Given the description of an element on the screen output the (x, y) to click on. 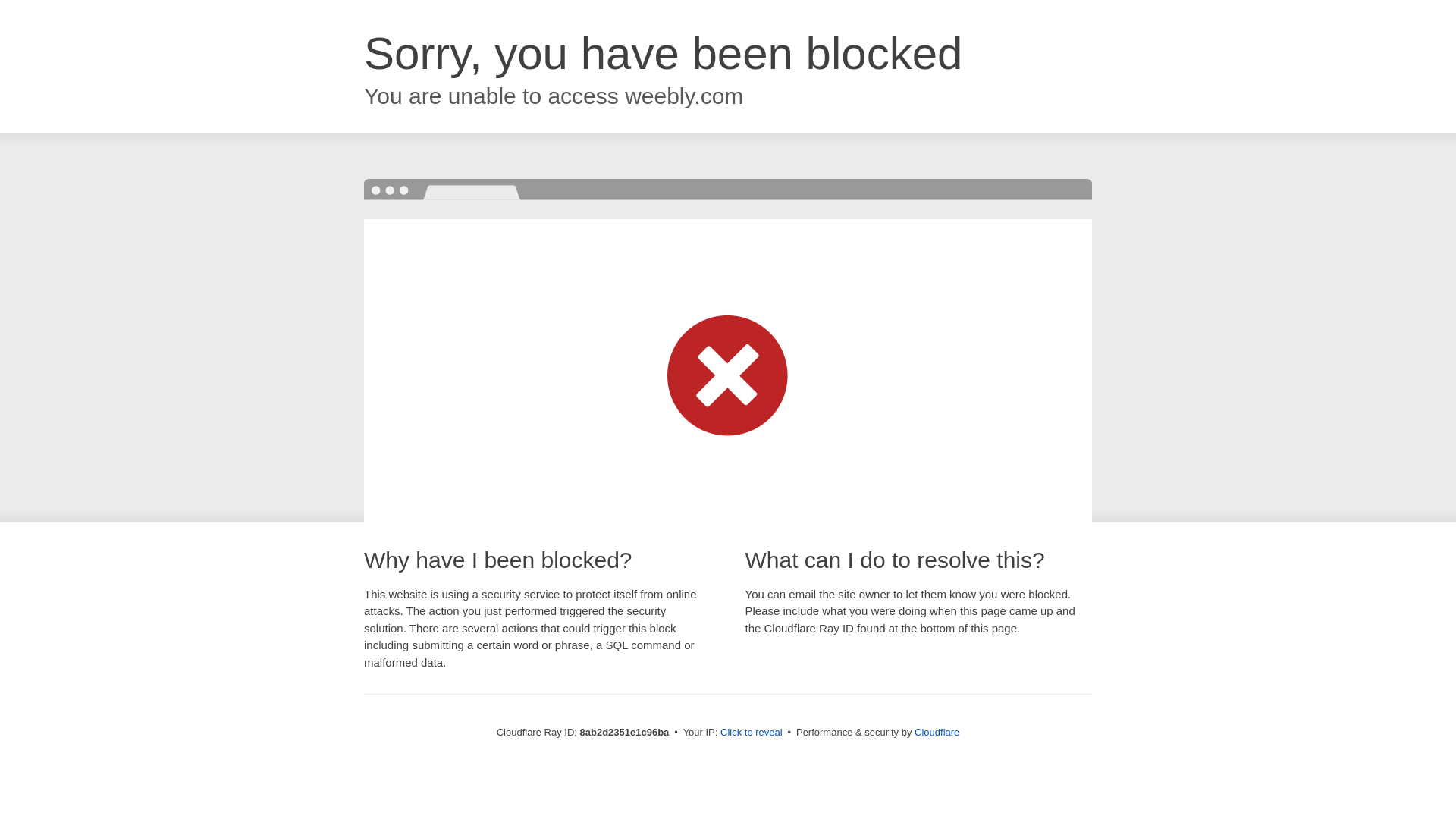
Cloudflare (936, 731)
Click to reveal (751, 732)
